Given the description of an element on the screen output the (x, y) to click on. 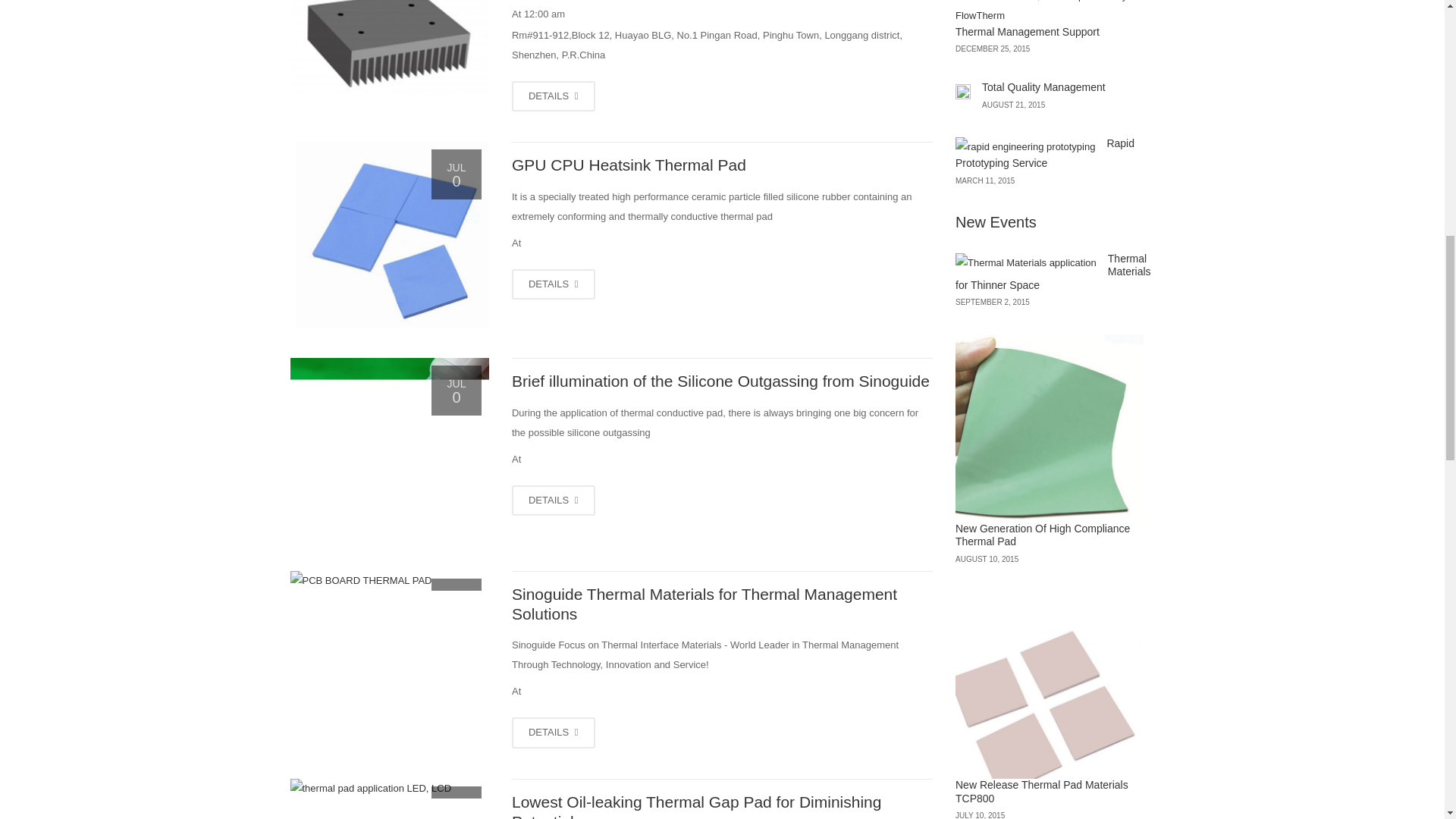
Brief illumination of the Silicone Outgassing from Sinoguide (388, 448)
Brief illumination of the Silicone Outgassing from Sinoguide (721, 380)
Sinoguide Thermal Materials for Thermal Management Solutions (553, 732)
Thermal Materials for Thinner Space (388, 48)
Brief illumination of the Silicone Outgassing from Sinoguide (553, 500)
GPU CPU Heatsink Thermal Pad (388, 234)
GPU CPU Heatsink Thermal Pad (553, 284)
GPU CPU Heatsink Thermal Pad (628, 164)
Thermal Materials for Thinner Space (553, 96)
Sinoguide Thermal Materials for Thermal Management Solutions (388, 580)
